Given the description of an element on the screen output the (x, y) to click on. 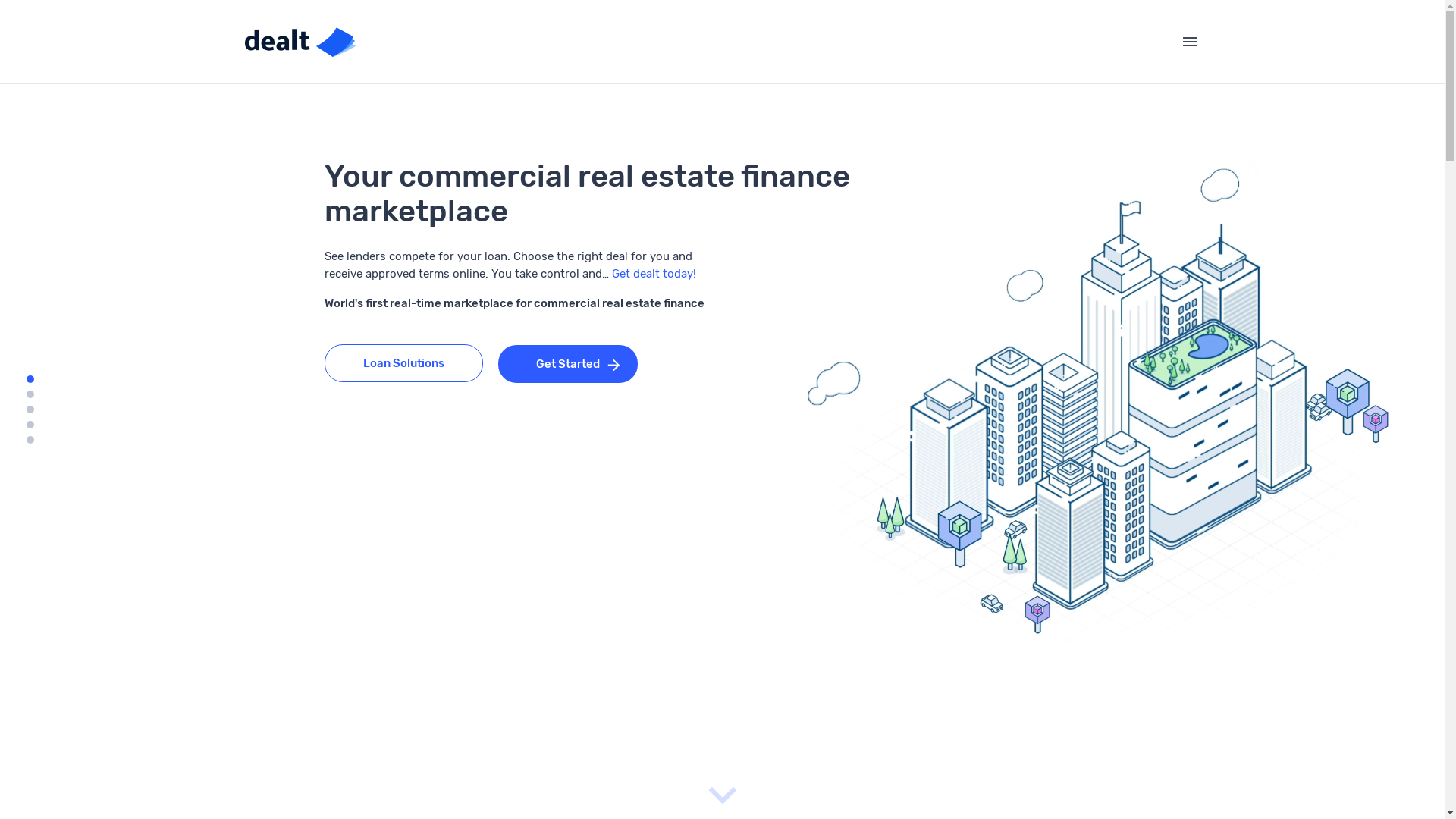
Get Started
arrow_forward Element type: text (567, 363)
Loan Solutions Element type: text (403, 363)
